Given the description of an element on the screen output the (x, y) to click on. 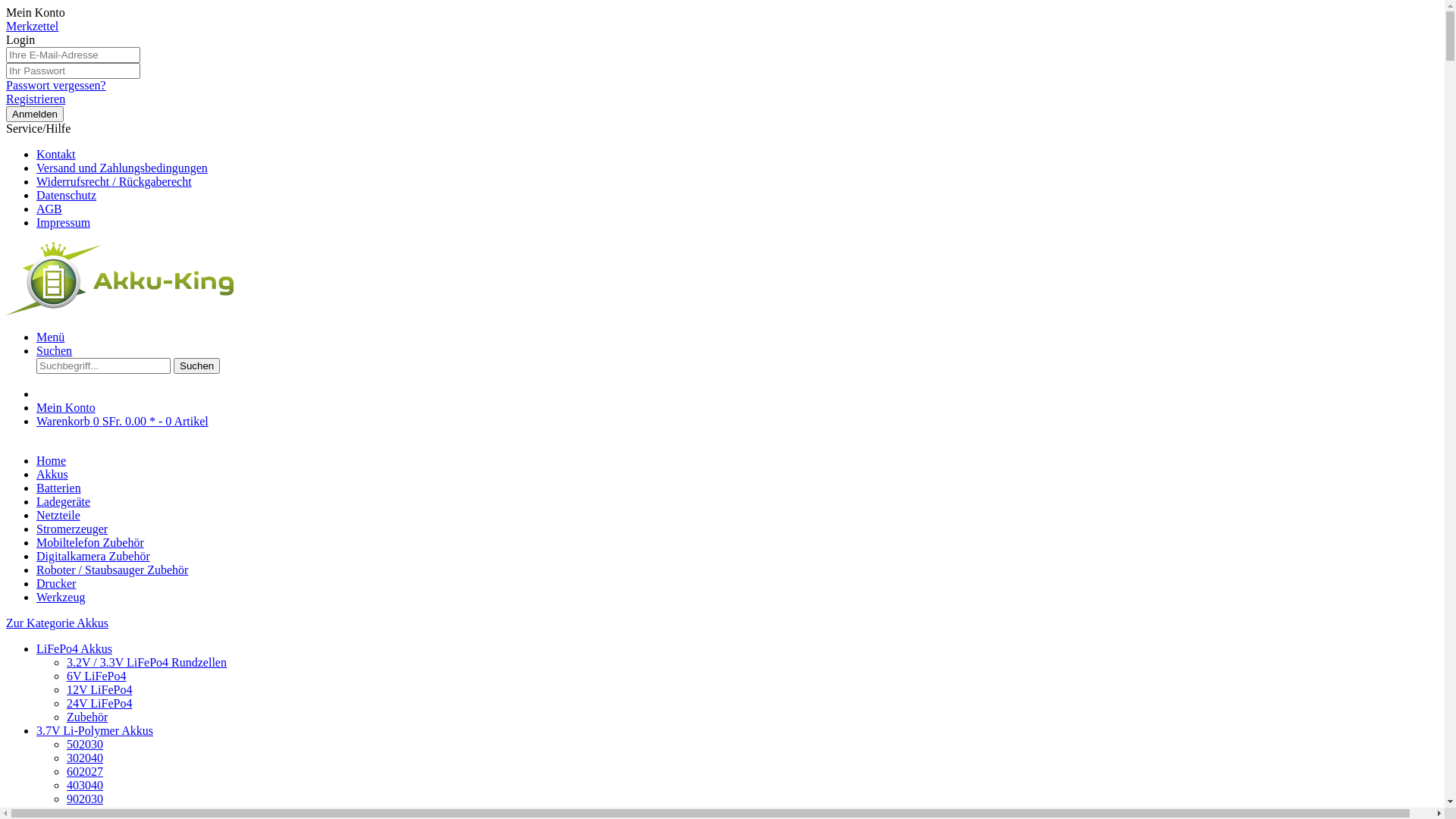
Versand und Zahlungsbedingungen Element type: text (121, 167)
24V LiFePo4 Element type: text (98, 702)
302040 Element type: text (84, 757)
Passwort vergessen? Element type: text (56, 84)
Datenschutz Element type: text (66, 194)
Registrieren Element type: text (35, 98)
Anmelden Element type: text (34, 114)
12V LiFePo4 Element type: text (98, 689)
Warenkorb 0 SFr. 0.00 * - 0 Artikel Element type: text (737, 420)
602027 Element type: text (84, 771)
Batterien Element type: text (58, 487)
Stromerzeuger Element type: text (71, 528)
Suchen Element type: text (54, 350)
Zur Kategorie Akkus Element type: text (57, 622)
Netzteile Element type: text (58, 514)
LiFePo4 Akkus Element type: text (74, 648)
3.2V / 3.3V LiFePo4 Rundzellen Element type: text (146, 661)
Drucker Element type: text (55, 583)
403040 Element type: text (84, 784)
3.7V Li-Polymer Akkus Element type: text (94, 730)
AGB Element type: text (49, 208)
Kontakt Element type: text (55, 153)
Suchen Element type: text (196, 365)
902030 Element type: text (84, 798)
Akku-King.ch Batterie Online-Shop - zur Startseite wechseln Element type: hover (119, 310)
Werkzeug Element type: text (60, 596)
Mein Konto Element type: text (35, 12)
502030 Element type: text (84, 743)
Home Element type: text (50, 460)
Mein Konto Element type: text (65, 407)
Akkus Element type: text (52, 473)
Merkzettel Element type: text (32, 25)
Impressum Element type: text (63, 222)
6V LiFePo4 Element type: text (95, 675)
